Given the description of an element on the screen output the (x, y) to click on. 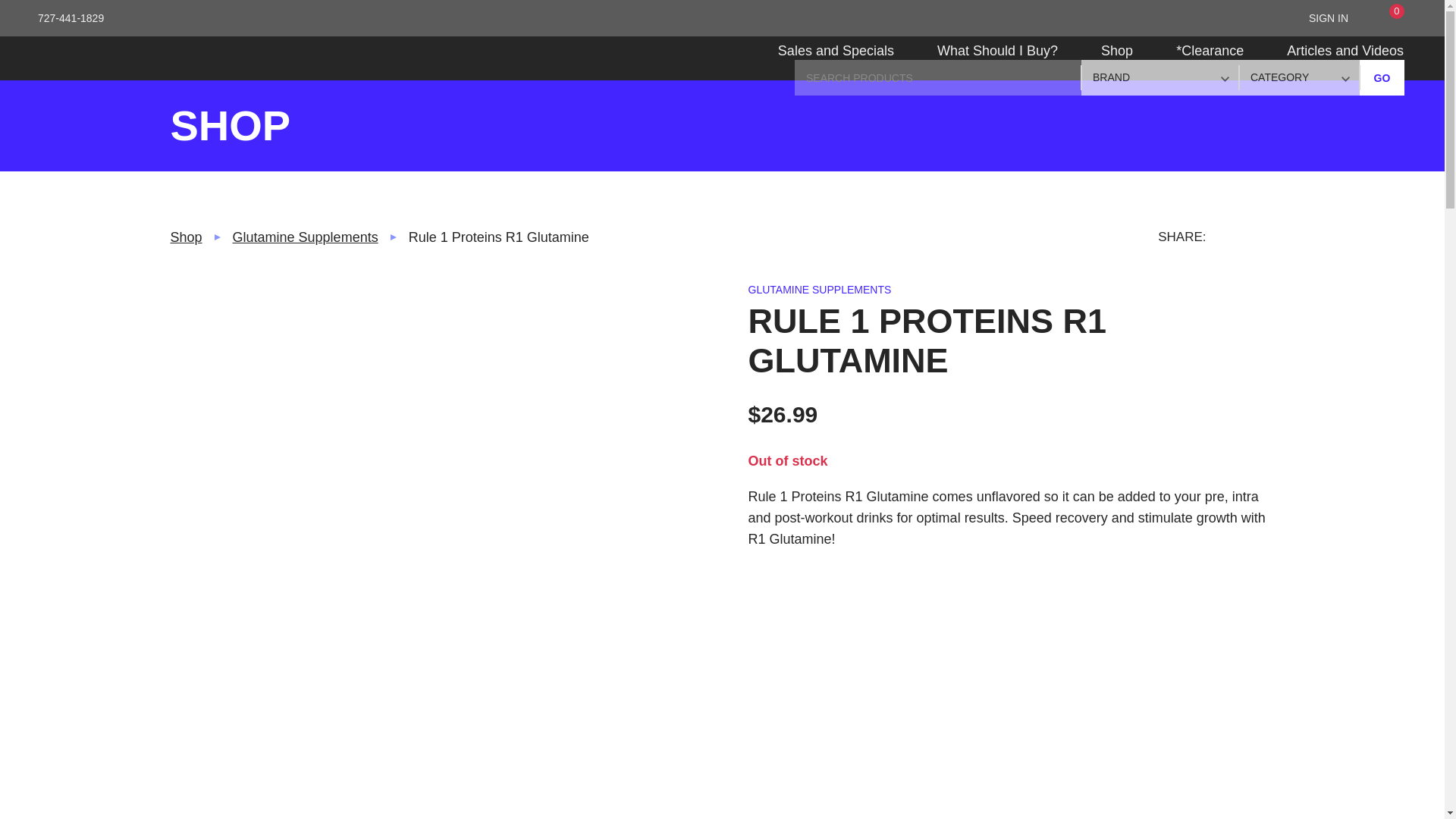
GO (1382, 77)
What Should I Buy? (997, 59)
727-441-1829 (71, 18)
GO (1382, 77)
Sales and Specials (836, 59)
Shop (1117, 59)
SIGN IN (1328, 18)
